Given the description of an element on the screen output the (x, y) to click on. 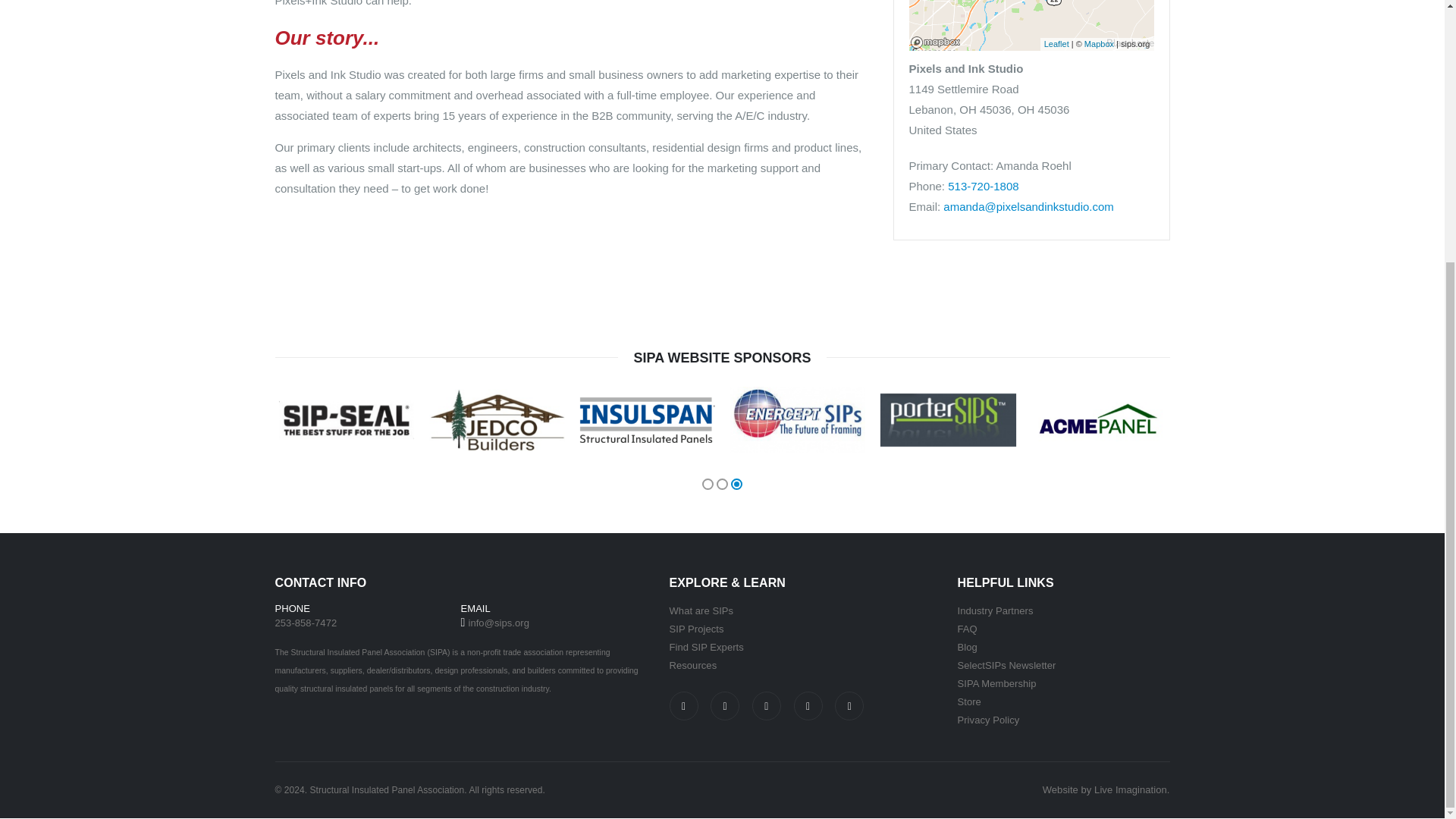
Instagram (724, 705)
YouTube (848, 705)
Twitter (766, 705)
Facebook (682, 705)
LinkedIn (807, 705)
A JS library for interactive maps (1055, 43)
